Given the description of an element on the screen output the (x, y) to click on. 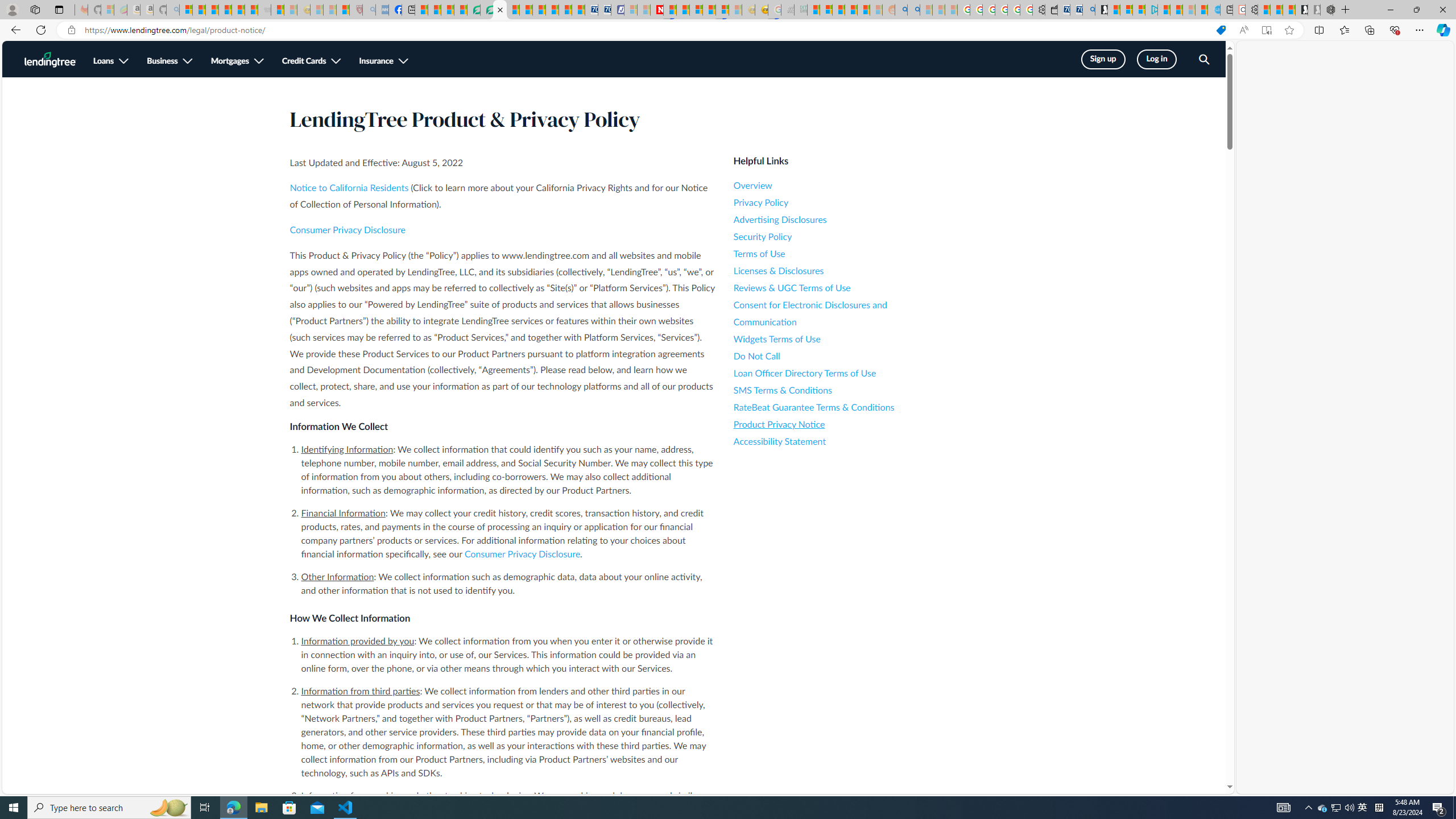
RateBeat Guarantee Terms & Conditions (836, 407)
SMS Terms & Conditions (836, 390)
Business, see more (169, 61)
